Given the description of an element on the screen output the (x, y) to click on. 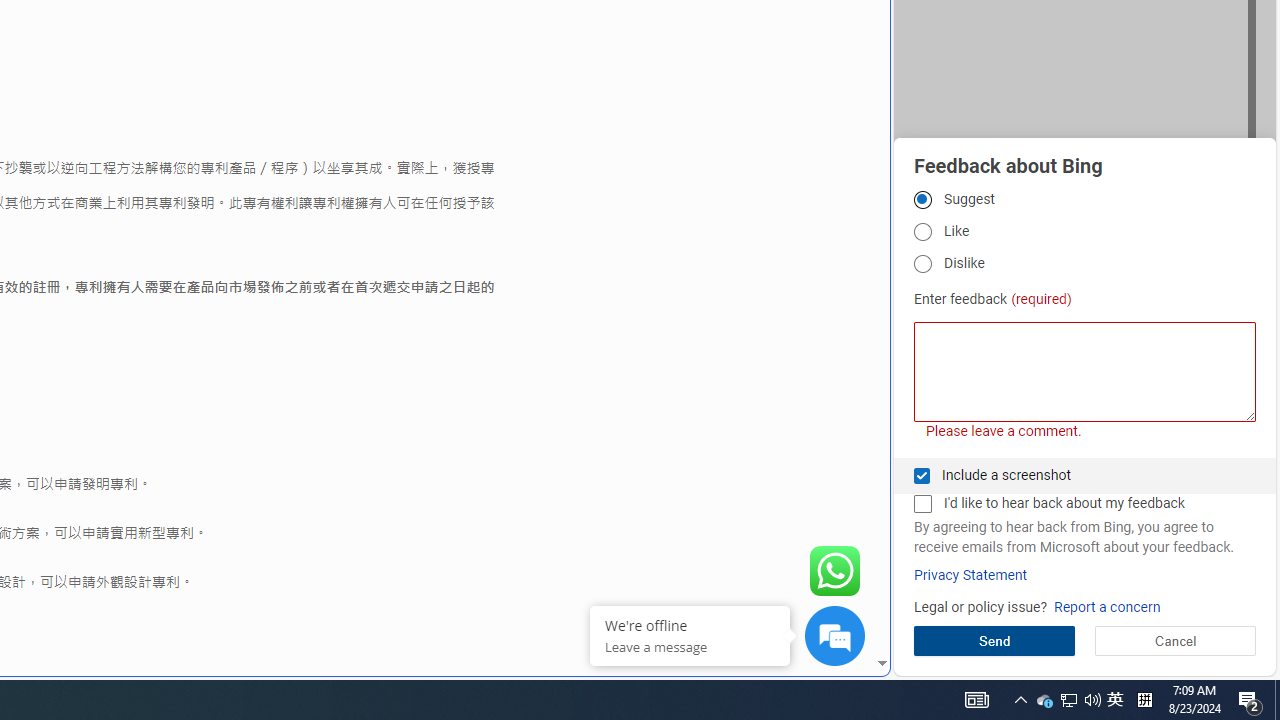
Send (994, 640)
Privacy Statement (970, 575)
Report a concern (1106, 607)
Like (922, 232)
google_privacy_policy_zh-CN.pdf (687, 482)
I'd like to hear back about my feedback (922, 503)
Cancel (1174, 640)
Include a screenshot (921, 475)
Suggest (922, 199)
